Given the description of an element on the screen output the (x, y) to click on. 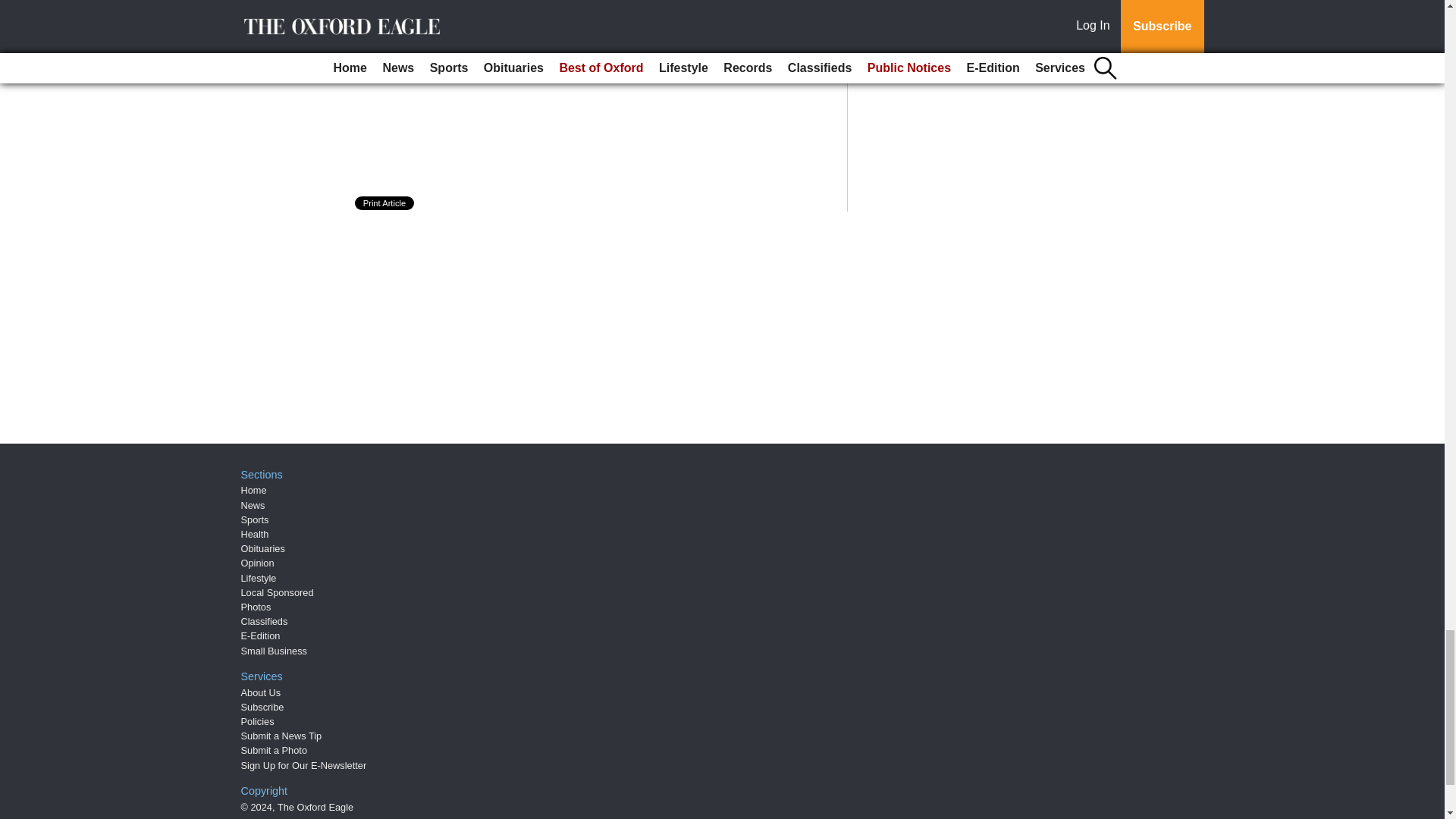
Print Article (384, 202)
